Given the description of an element on the screen output the (x, y) to click on. 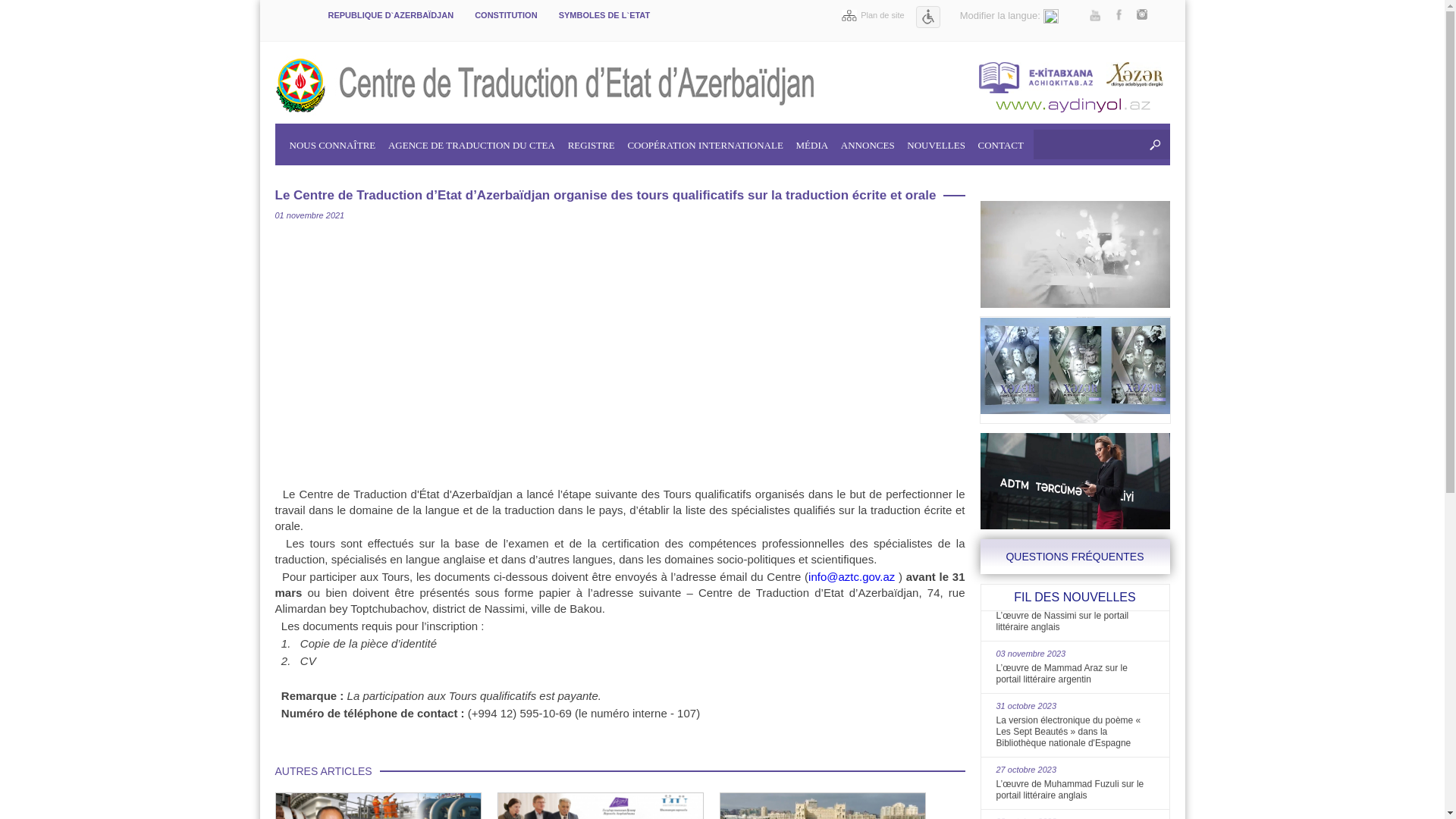
Plan de site Element type: text (872, 15)
SYMBOLES DE L`ETAT Element type: text (604, 20)
CONTACT Element type: text (1000, 141)
info@aztc.gov.az Element type: text (851, 576)
AGENCE DE TRADUCTION DU CTEA Element type: text (471, 141)
ANNONCES Element type: text (867, 141)
NOUVELLES Element type: text (935, 141)
REGISTRE Element type: text (591, 141)
CONSTITUTION Element type: text (505, 20)
